Given the description of an element on the screen output the (x, y) to click on. 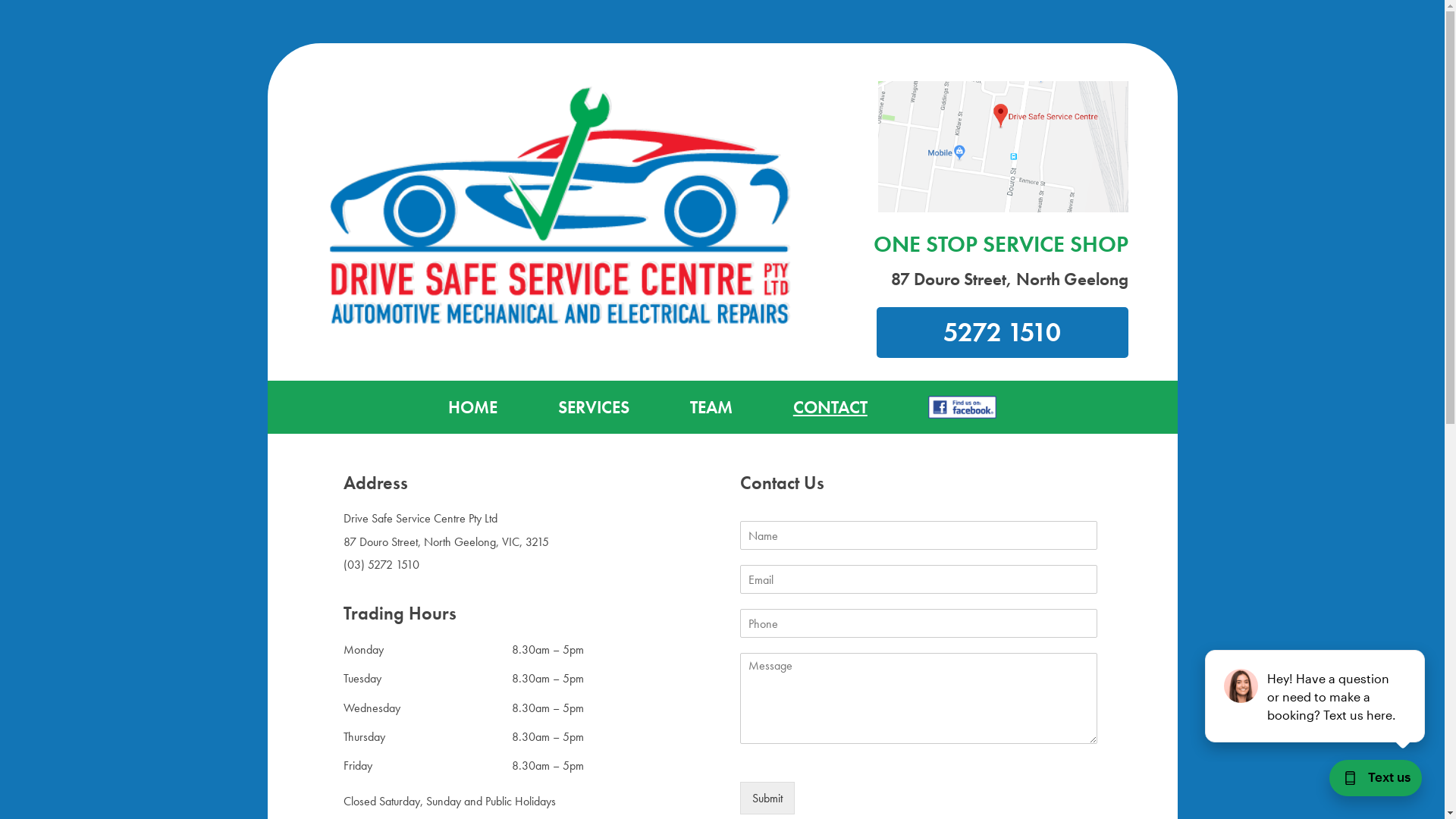
SERVICES Element type: text (593, 406)
podium webchat widget prompt Element type: hover (1315, 696)
HOME Element type: text (472, 406)
TEAM Element type: text (710, 406)
CONTACT Element type: text (829, 406)
Submit Element type: text (767, 797)
